Given the description of an element on the screen output the (x, y) to click on. 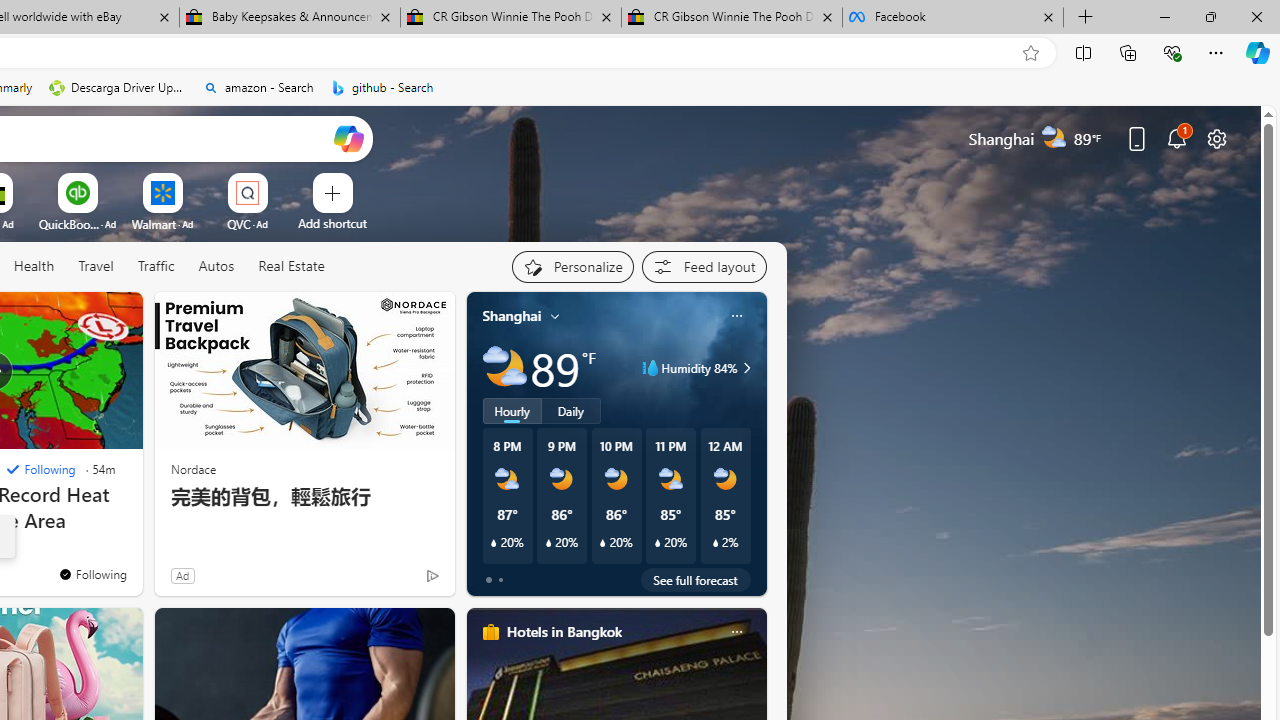
More Options (279, 179)
Humidity 84% (744, 367)
Add a site (332, 223)
You're following The Weather Channel (92, 573)
See full forecast (695, 579)
